Given the description of an element on the screen output the (x, y) to click on. 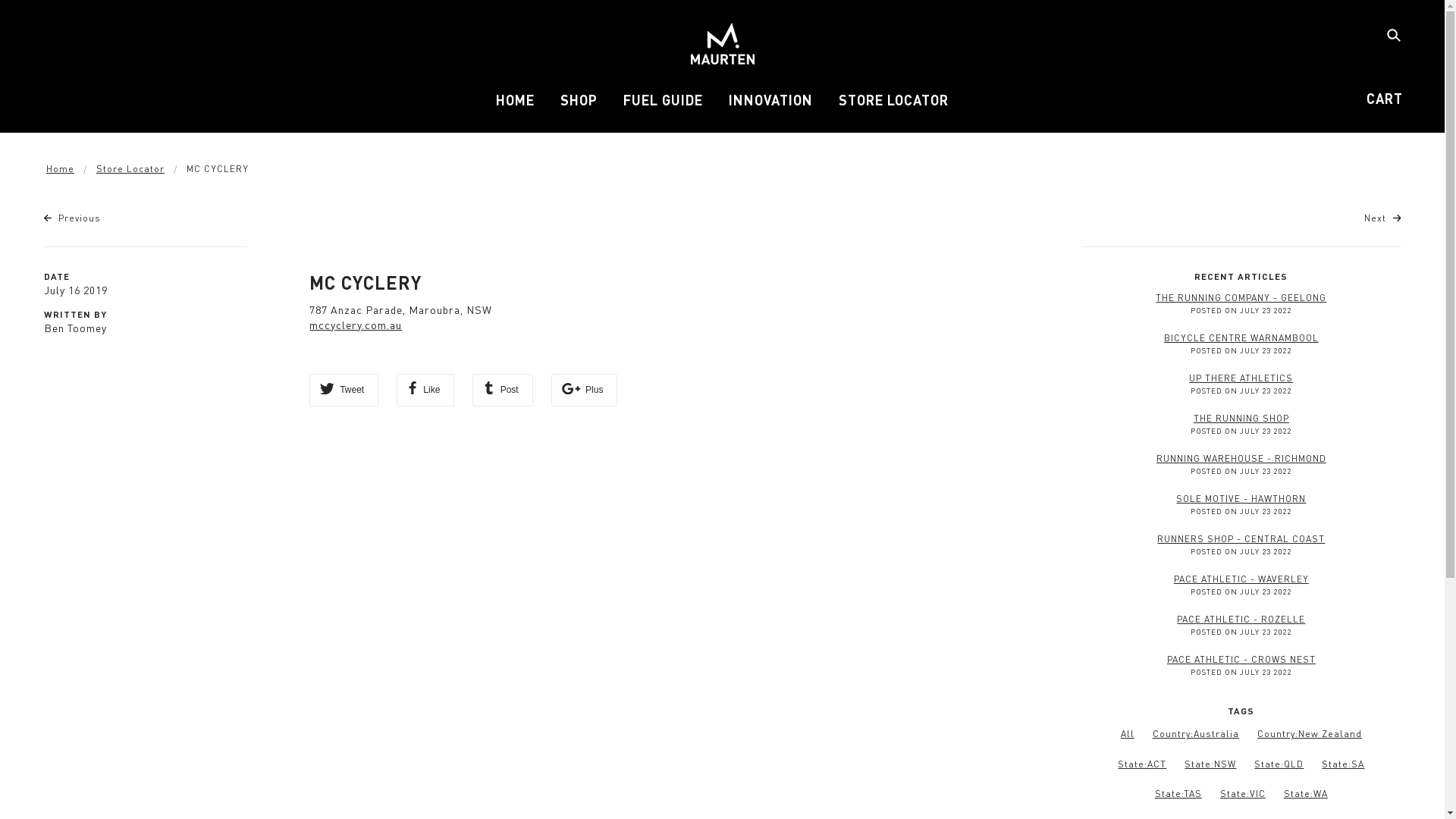
CART Element type: text (1384, 98)
MC CYCLERY Element type: text (365, 282)
THE RUNNING COMPANY - GEELONG Element type: text (1240, 297)
STORE LOCATOR Element type: text (893, 105)
HOME Element type: text (515, 105)
SHOP Element type: text (578, 105)
RUNNERS SHOP - CENTRAL COAST Element type: text (1240, 538)
Maurten Australia Element type: hover (721, 43)
BICYCLE CENTRE WARNAMBOOL Element type: text (1241, 337)
mccyclery.com.au Element type: text (355, 324)
Country:Australia Element type: text (1195, 733)
Home Element type: text (60, 168)
Like Element type: text (425, 389)
State:ACT Element type: text (1141, 763)
THE RUNNING SHOP Element type: text (1241, 417)
Tweet Element type: text (343, 389)
All Element type: text (1127, 734)
State:VIC Element type: text (1242, 793)
State:TAS Element type: text (1177, 793)
PACE ATHLETIC - CROWS NEST Element type: text (1241, 659)
INNOVATION Element type: text (770, 105)
UP THERE ATHLETICS Element type: text (1240, 377)
State:QLD Element type: text (1278, 763)
Country:New Zealand Element type: text (1309, 733)
State:SA Element type: text (1342, 763)
State:NSW Element type: text (1210, 763)
Post Element type: text (502, 389)
Next Element type: text (1382, 217)
Plus Element type: text (584, 389)
PACE ATHLETIC - WAVERLEY Element type: text (1240, 578)
Store Locator Element type: text (130, 168)
Previous Element type: text (72, 217)
SOLE MOTIVE - HAWTHORN Element type: text (1240, 498)
RUNNING WAREHOUSE - RICHMOND Element type: text (1241, 458)
State:WA Element type: text (1305, 793)
FUEL GUIDE Element type: text (662, 105)
PACE ATHLETIC - ROZELLE Element type: text (1240, 618)
